Given the description of an element on the screen output the (x, y) to click on. 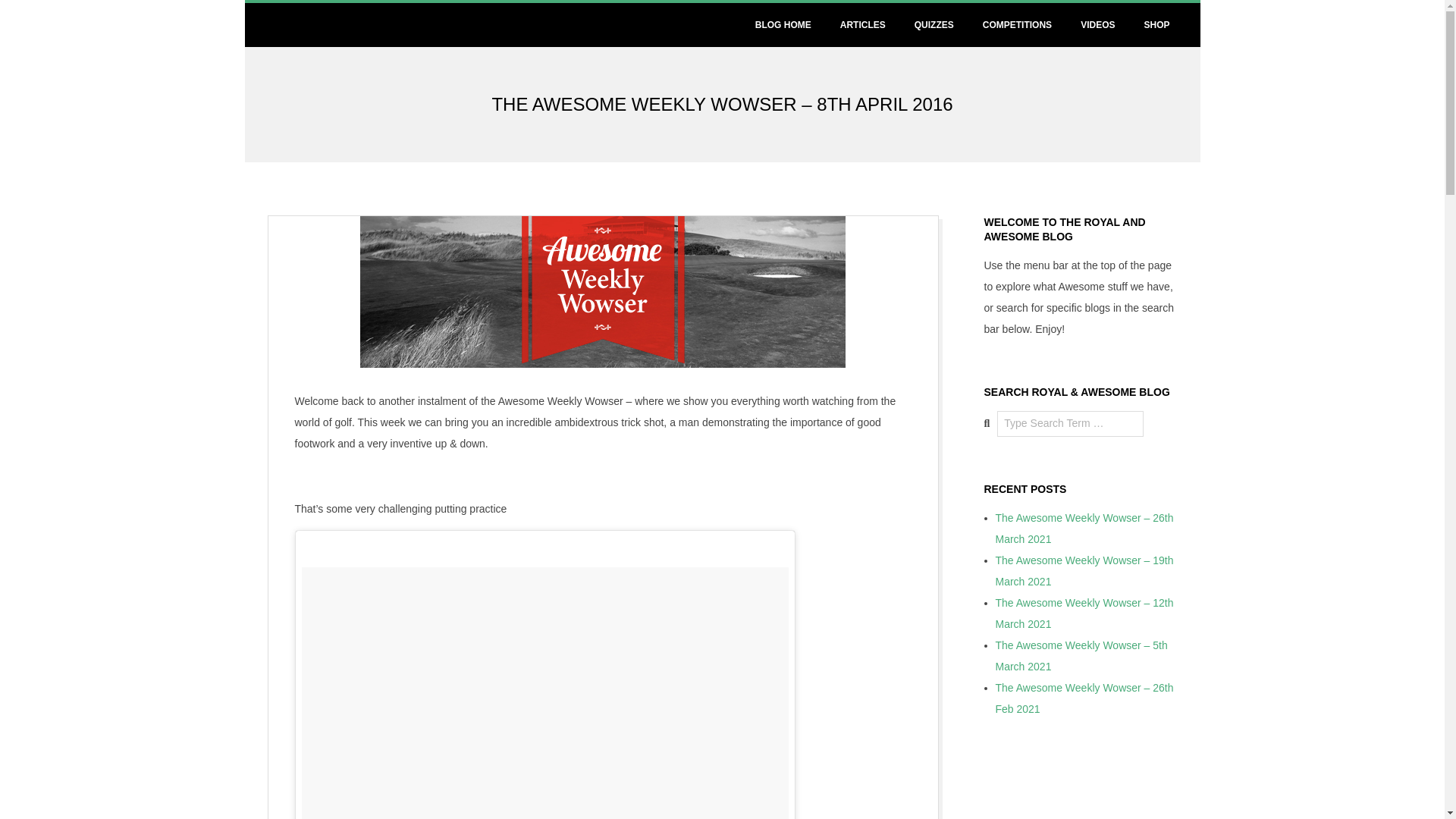
SHOP (1155, 24)
QUIZZES (933, 24)
BLOG HOME (783, 24)
ARTICLES (862, 24)
VIDEOS (1097, 24)
COMPETITIONS (1017, 24)
